Given the description of an element on the screen output the (x, y) to click on. 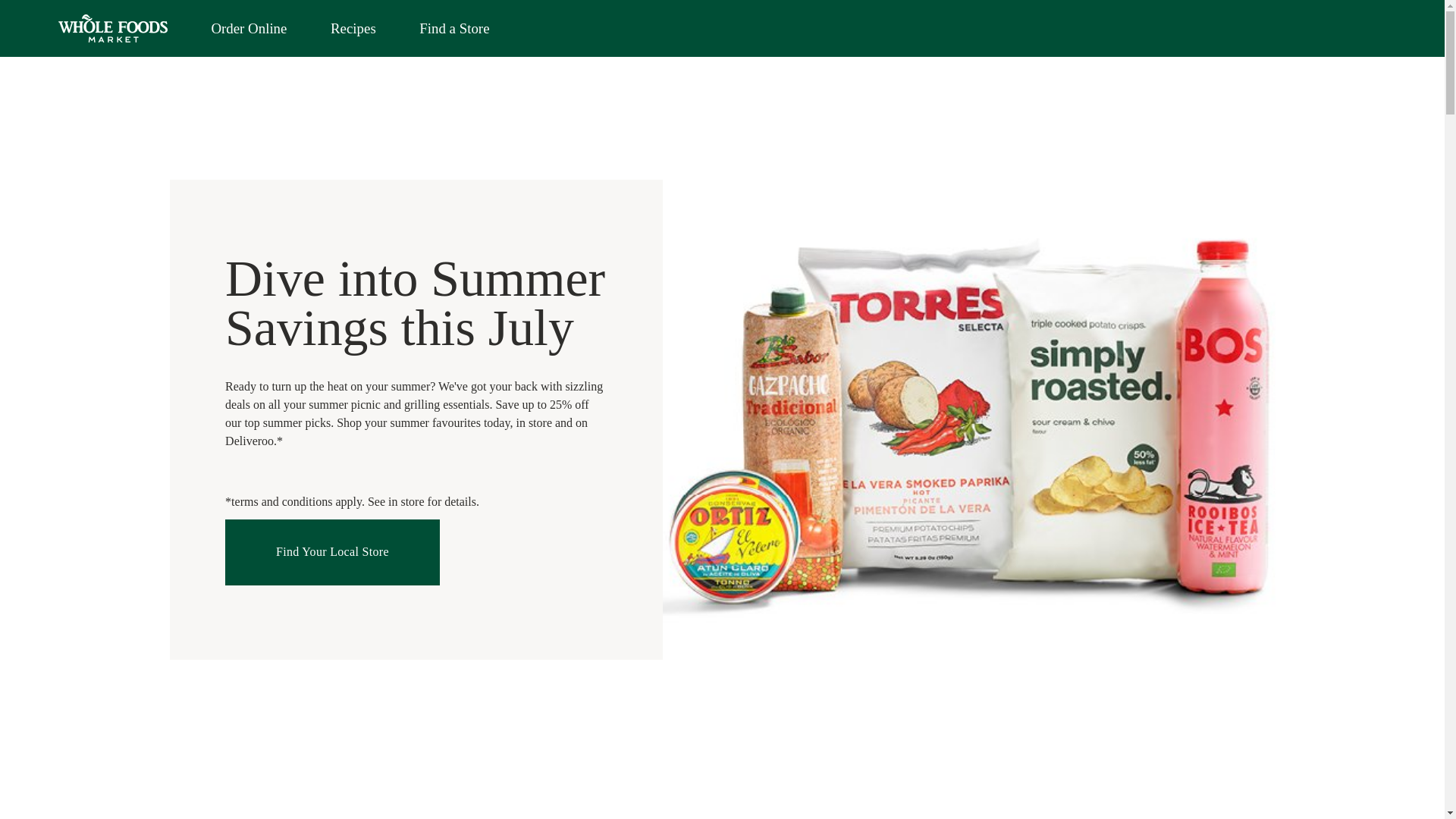
Order Online (248, 28)
Find Your Local Store (332, 552)
Recipes (352, 28)
Find a Store (454, 28)
